Given the description of an element on the screen output the (x, y) to click on. 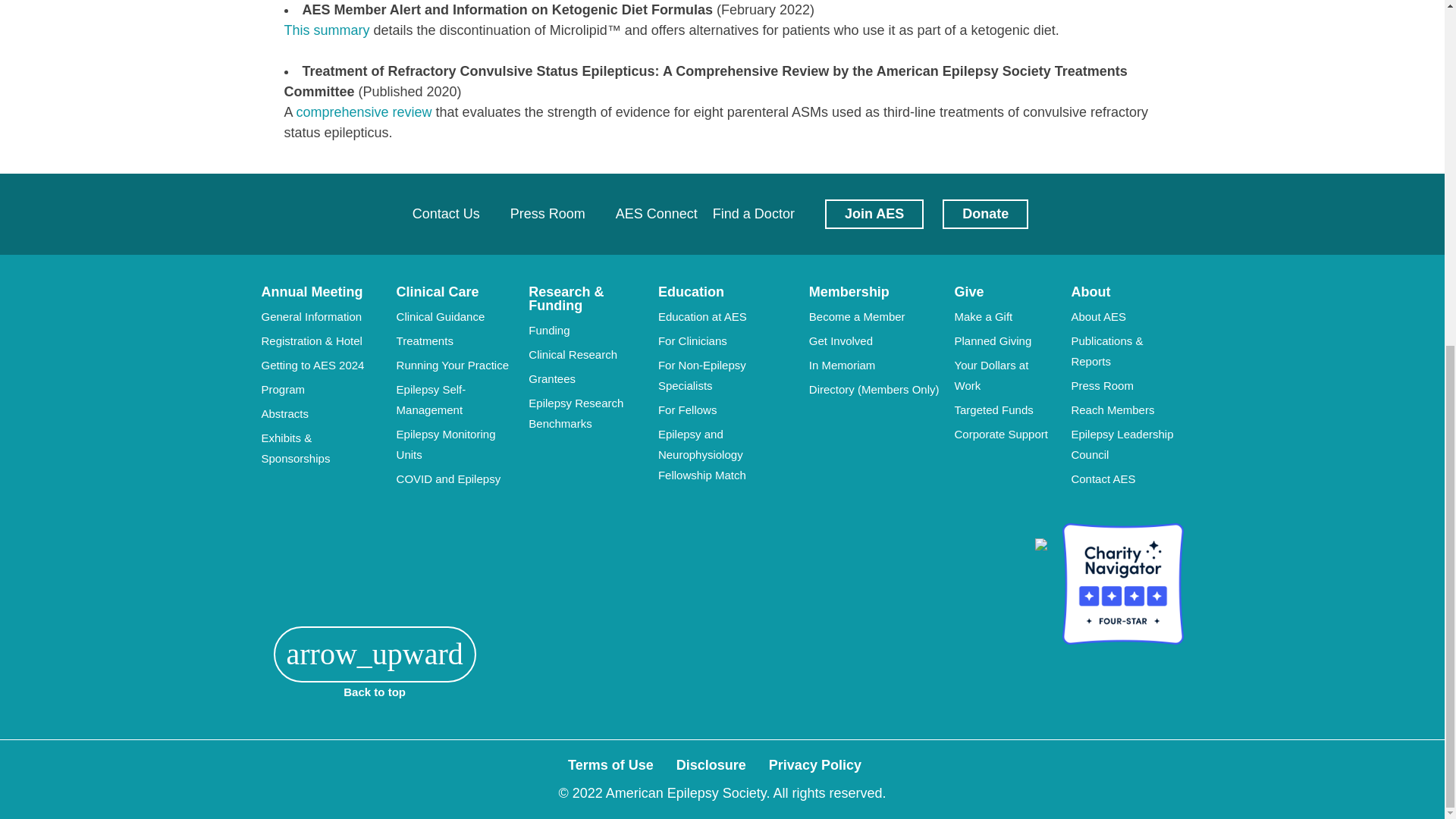
Program (282, 388)
Join AES (874, 213)
General Information (310, 315)
Donate (984, 213)
Find a Doctor (753, 213)
comprehensive review (364, 111)
This summary (326, 29)
Getting to AES 2024 (312, 364)
Press Room (548, 213)
Contact Us (446, 213)
AES Connect (656, 213)
